Given the description of an element on the screen output the (x, y) to click on. 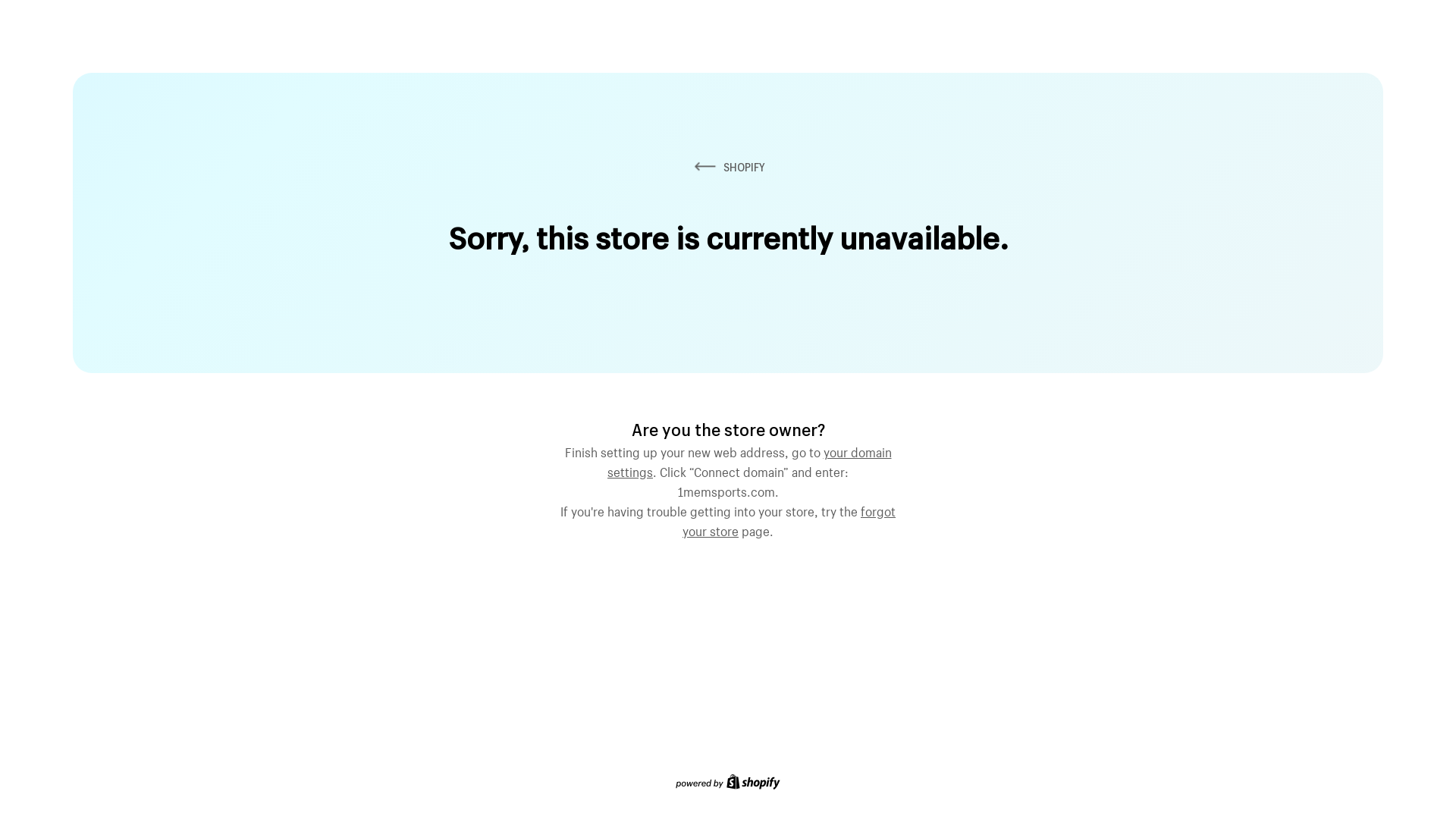
SHOPIFY Element type: text (727, 167)
forgot your store Element type: text (788, 519)
your domain settings Element type: text (749, 460)
